Given the description of an element on the screen output the (x, y) to click on. 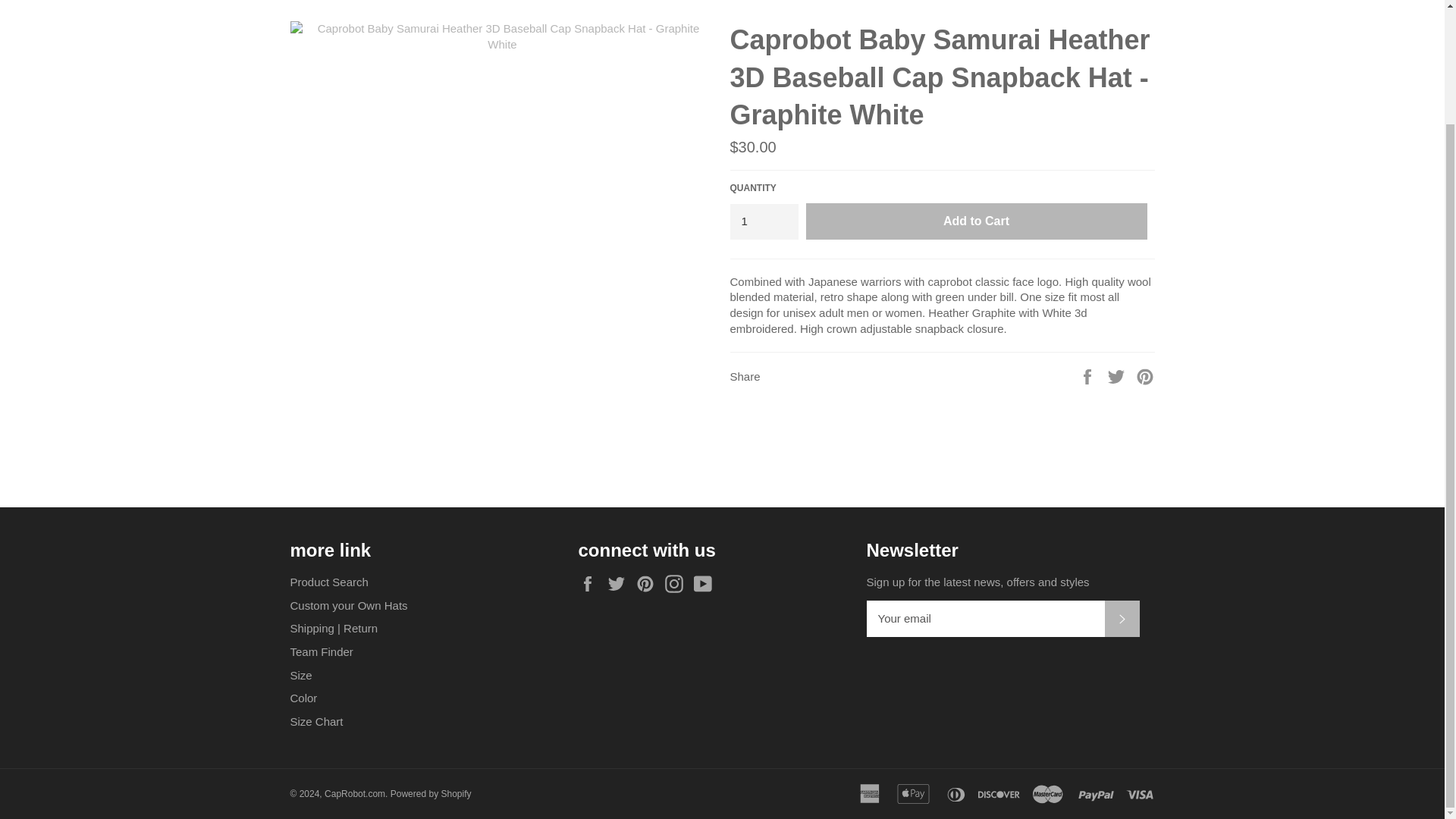
CapRobot.com on Twitter (620, 583)
CapRobot.com on YouTube (706, 583)
Share on Facebook (1088, 375)
Pin on Pinterest (1144, 375)
Tweet on Twitter (1117, 375)
CapRobot.com on Instagram (677, 583)
CapRobot.com on Facebook (591, 583)
1 (763, 221)
CapRobot.com on Pinterest (649, 583)
